Given the description of an element on the screen output the (x, y) to click on. 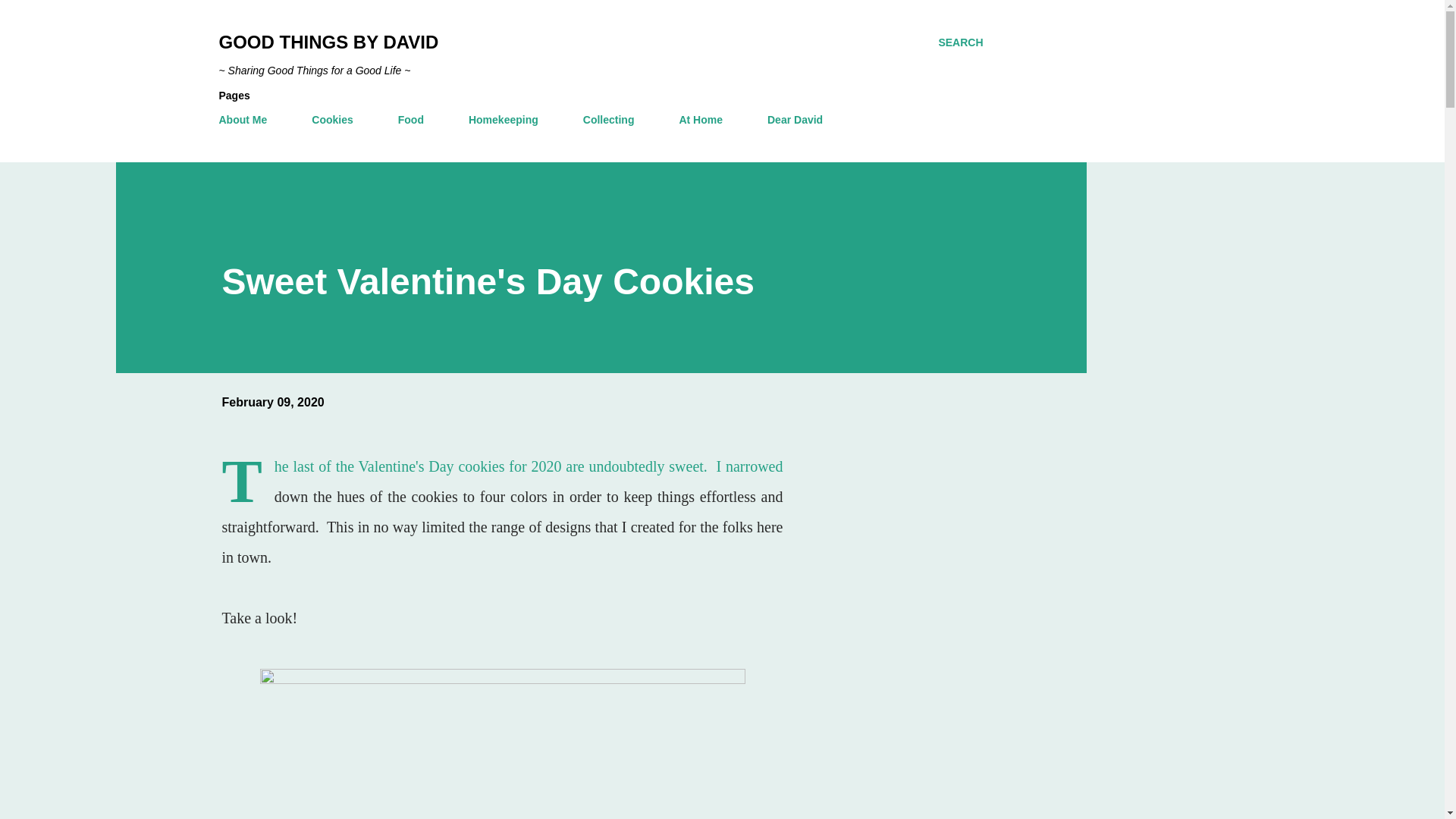
Collecting (608, 119)
Food (410, 119)
GOOD THINGS BY DAVID (328, 41)
At Home (700, 119)
SEARCH (959, 42)
Homekeeping (503, 119)
Cookies (331, 119)
About Me (247, 119)
Dear David (794, 119)
permanent link (272, 401)
February 09, 2020 (272, 401)
